Given the description of an element on the screen output the (x, y) to click on. 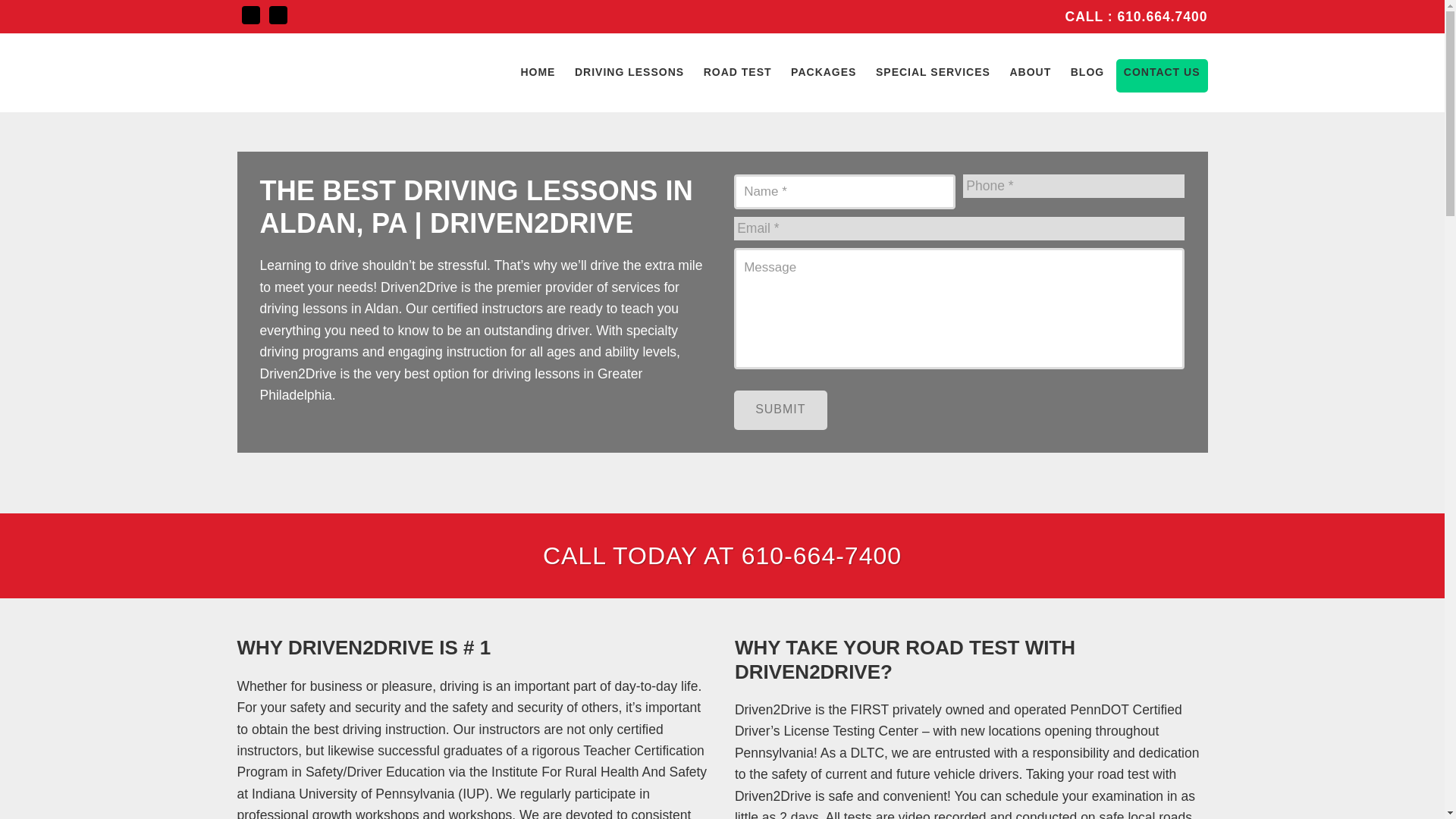
SPECIAL SERVICES (932, 71)
ABOUT (1029, 71)
BLOG (1087, 71)
CONTACT US (1162, 71)
PACKAGES (823, 71)
HOME (537, 71)
Submit (780, 409)
DRIVING LESSONS (629, 71)
ROAD TEST (736, 71)
Submit (780, 409)
